Given the description of an element on the screen output the (x, y) to click on. 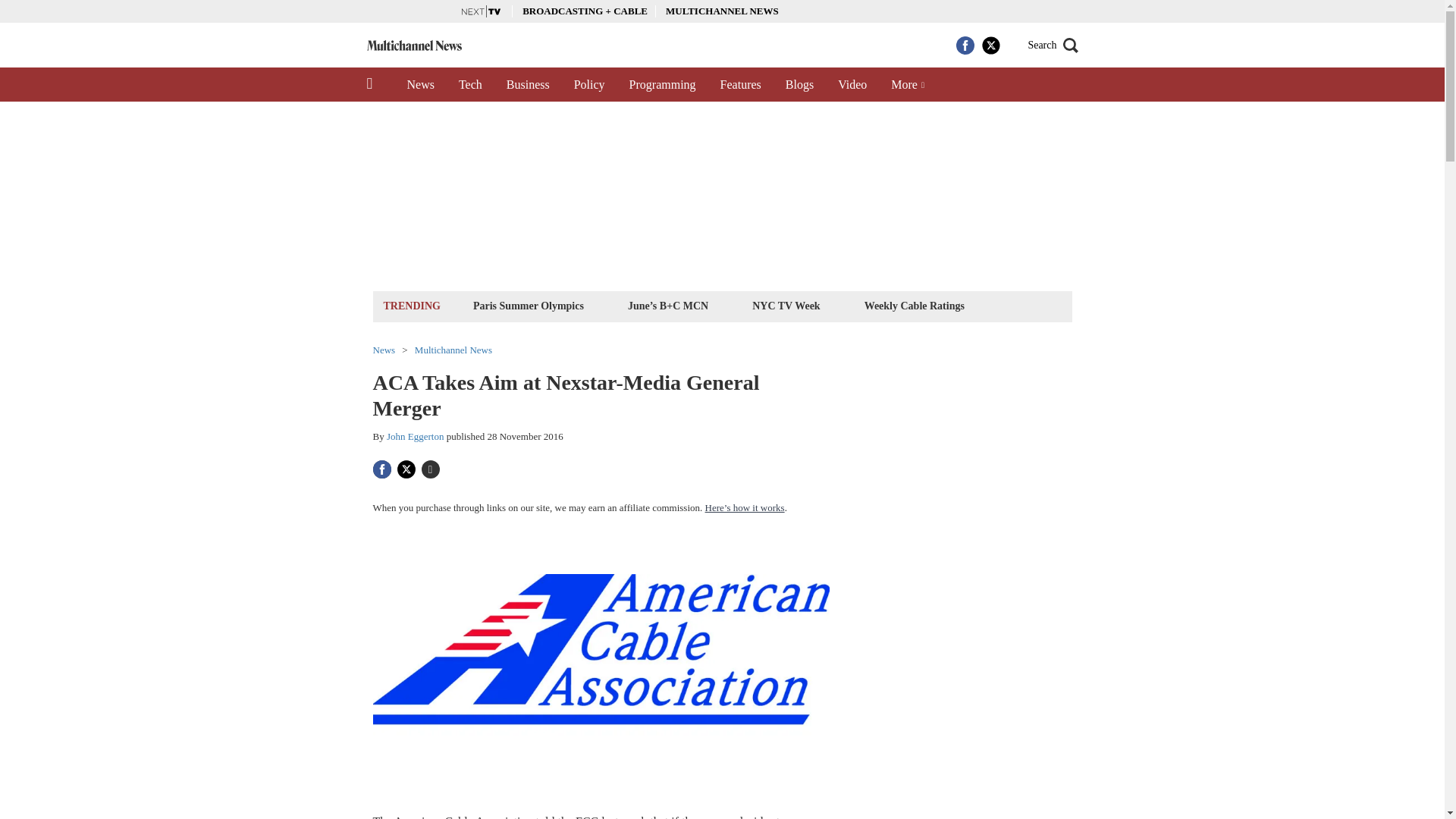
Policy (589, 84)
NYC TV Week (785, 305)
News (419, 84)
Programming (662, 84)
Blogs (799, 84)
Tech (470, 84)
Multichannel News (453, 349)
Video (852, 84)
Business (528, 84)
Weekly Cable Ratings (914, 305)
John Eggerton (415, 436)
Paris Summer Olympics (528, 305)
Features (740, 84)
MULTICHANNEL NEWS (721, 10)
